Given the description of an element on the screen output the (x, y) to click on. 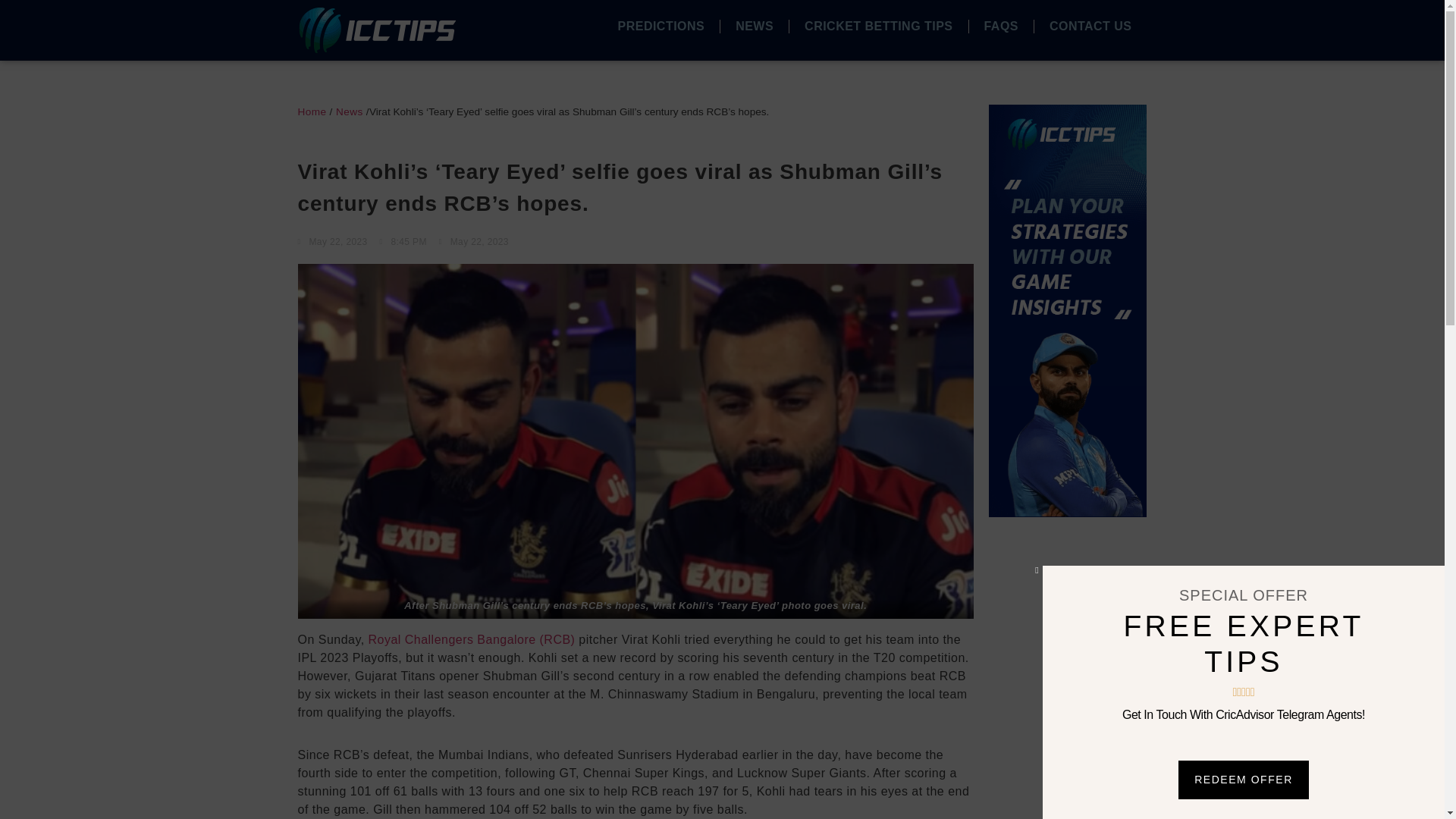
May 22, 2023 (331, 241)
CRICKET BETTING TIPS (878, 26)
PREDICTIONS (661, 26)
FAQS (1001, 26)
CONTACT US (1090, 26)
News (349, 111)
NEWS (754, 26)
Home (311, 111)
May 22, 2023 (473, 241)
